Given the description of an element on the screen output the (x, y) to click on. 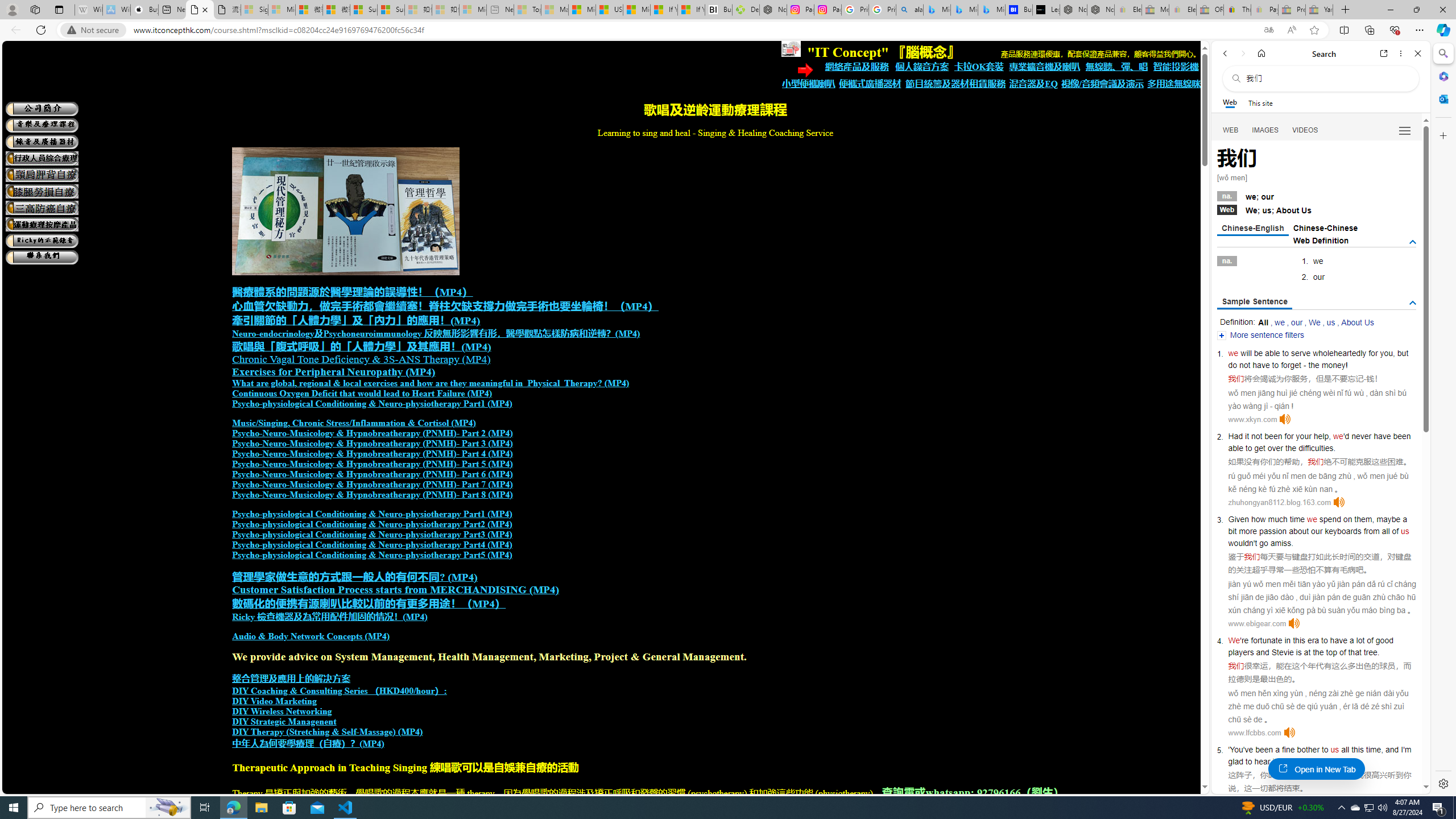
Microsoft Services Agreement - Sleeping (281, 9)
Web scope (1230, 102)
about (1298, 530)
